Given the description of an element on the screen output the (x, y) to click on. 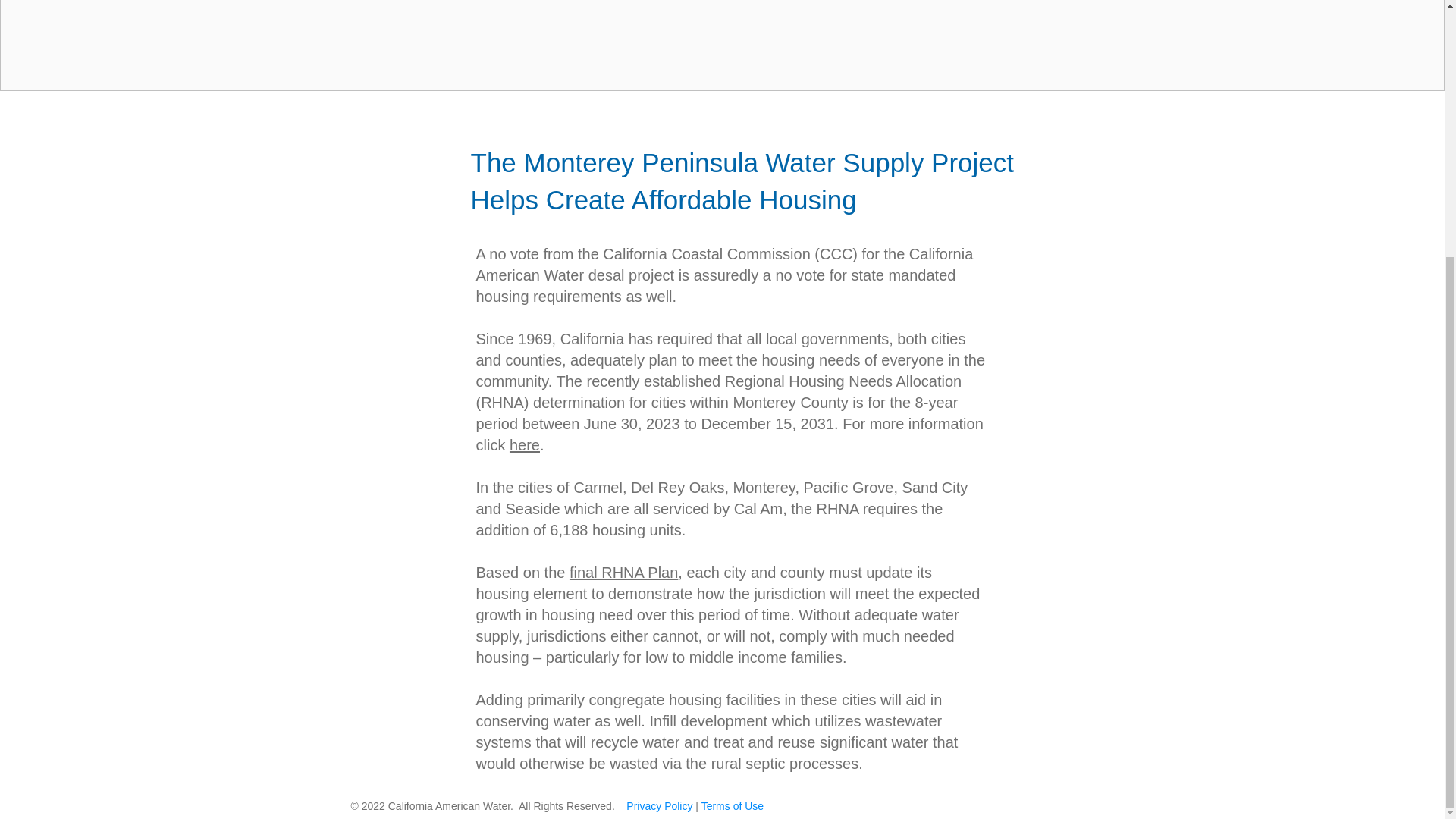
Terms of Use (731, 806)
here (524, 444)
Privacy Policy (659, 806)
final RHNA Plan (623, 572)
